Given the description of an element on the screen output the (x, y) to click on. 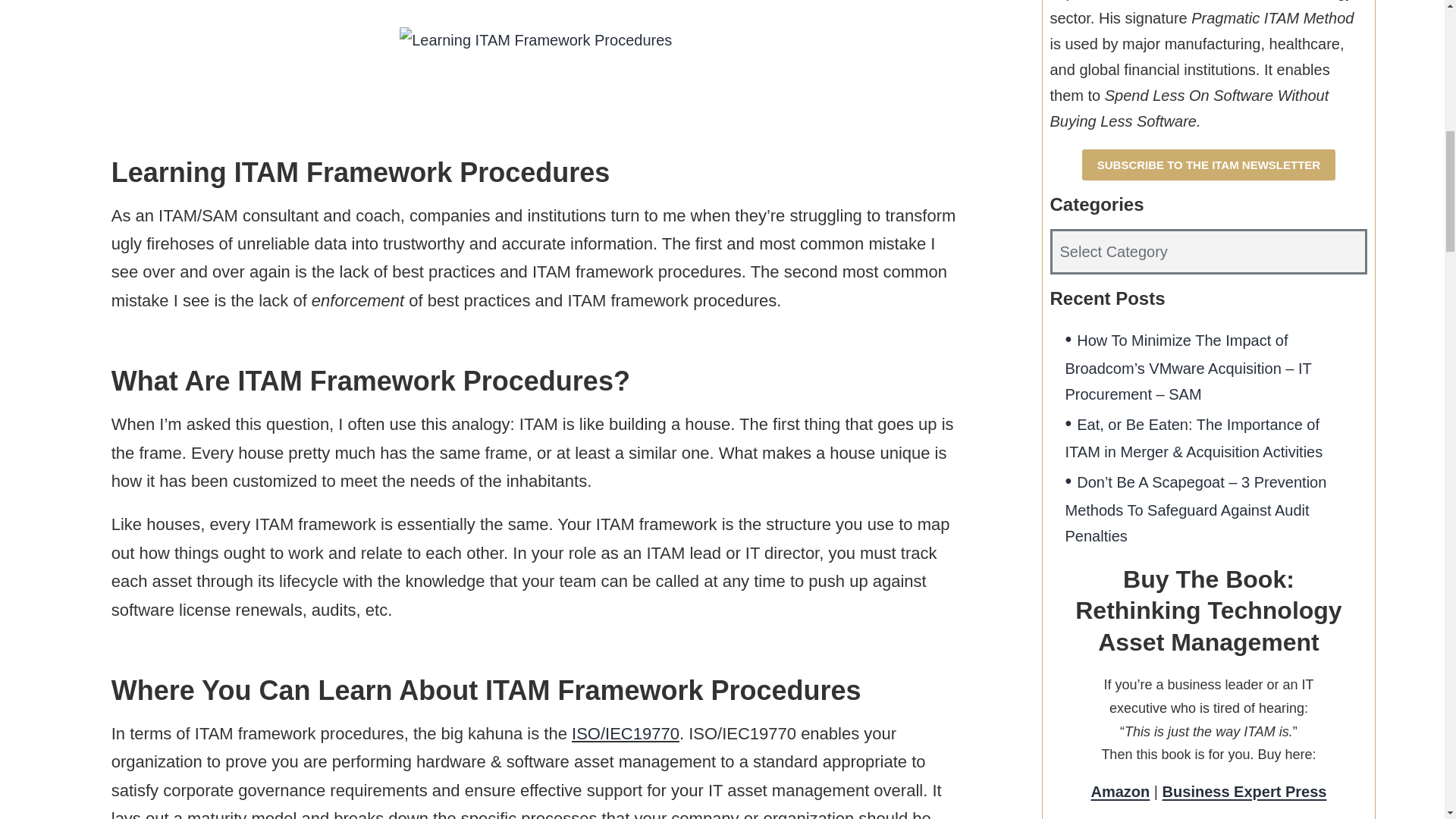
Learning ITAM Framework Procedures (534, 40)
